Given the description of an element on the screen output the (x, y) to click on. 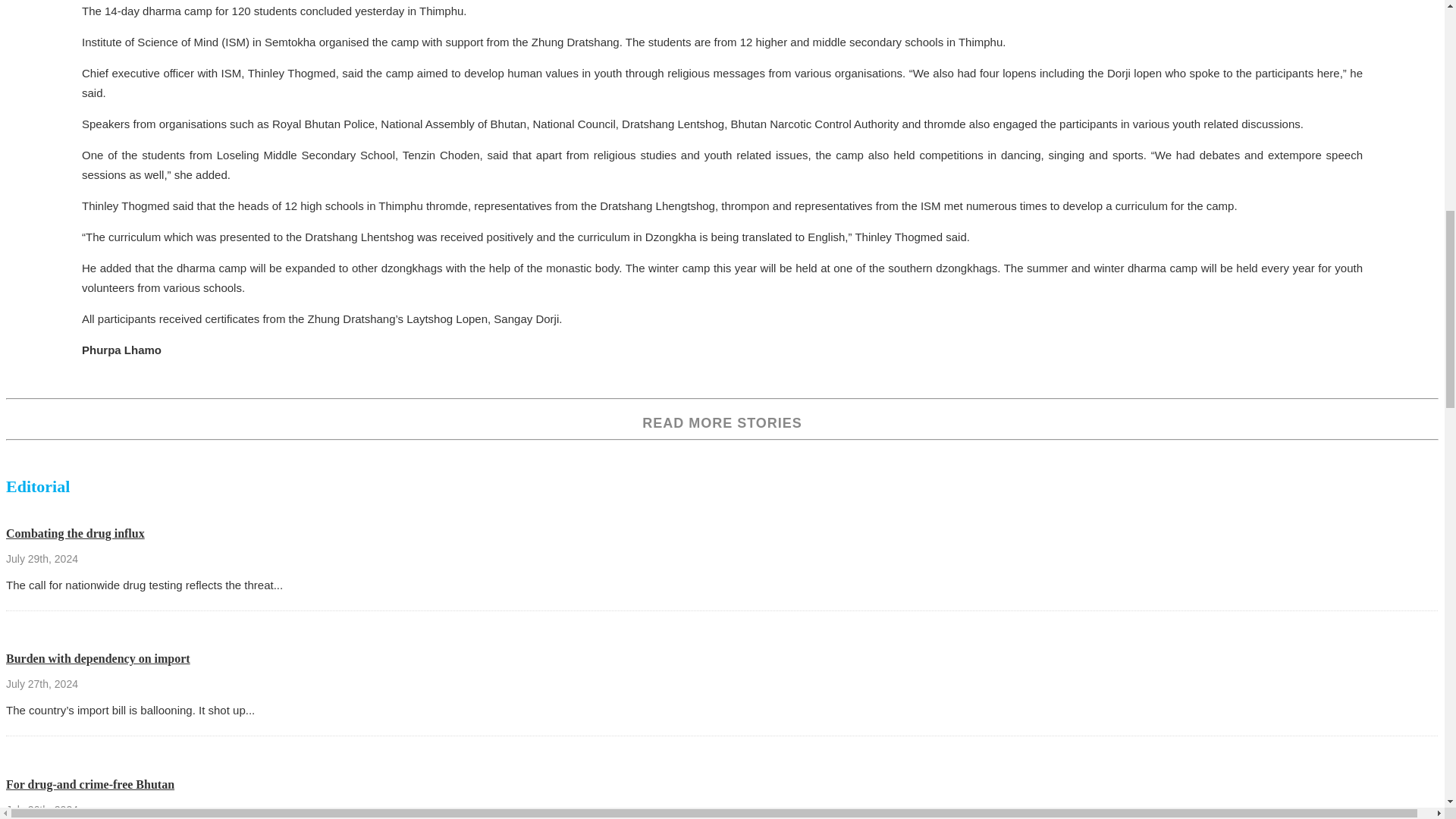
For drug-and crime-free Bhutan (89, 784)
Burden with dependency on import (97, 658)
Combating the drug influx (74, 533)
